Given the description of an element on the screen output the (x, y) to click on. 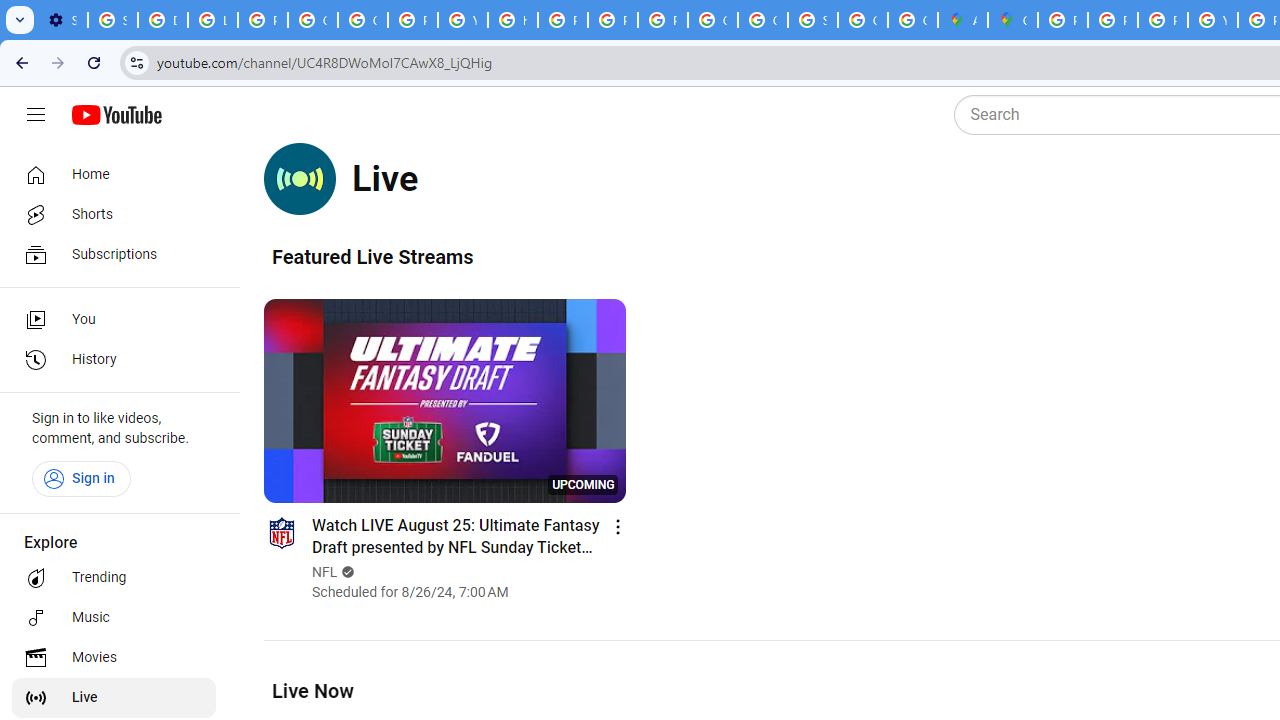
Movies (113, 657)
Google Maps (1013, 20)
Go to channel (281, 532)
Music (113, 617)
History (113, 359)
Featured Live Streams (372, 256)
Subscriptions (113, 254)
Create your Google Account (913, 20)
Action menu (617, 526)
